Given the description of an element on the screen output the (x, y) to click on. 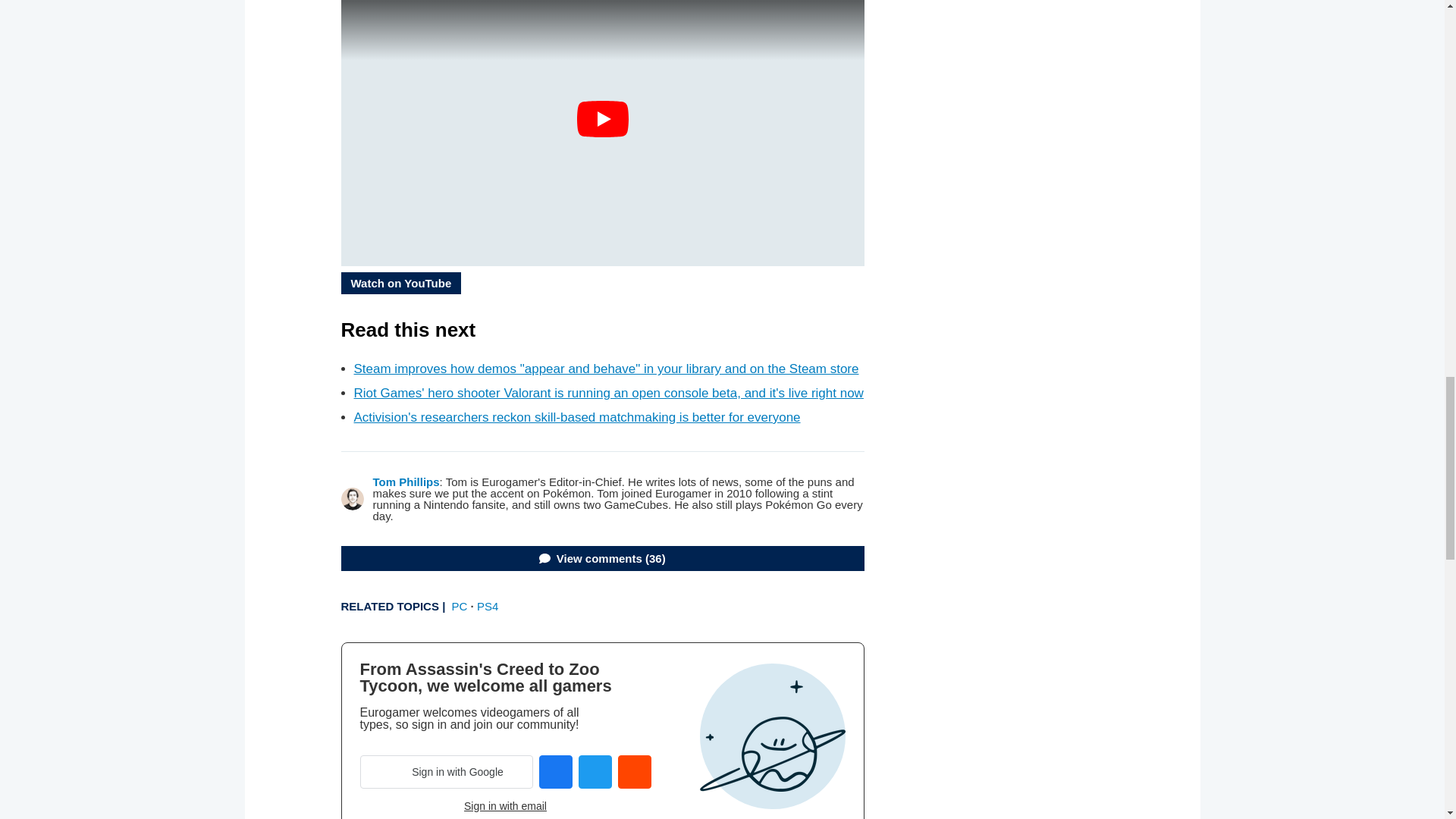
PC (459, 605)
Watch on YouTube (400, 282)
Tom Phillips (405, 481)
Sign in with Google (445, 771)
PS4 (487, 605)
